Given the description of an element on the screen output the (x, y) to click on. 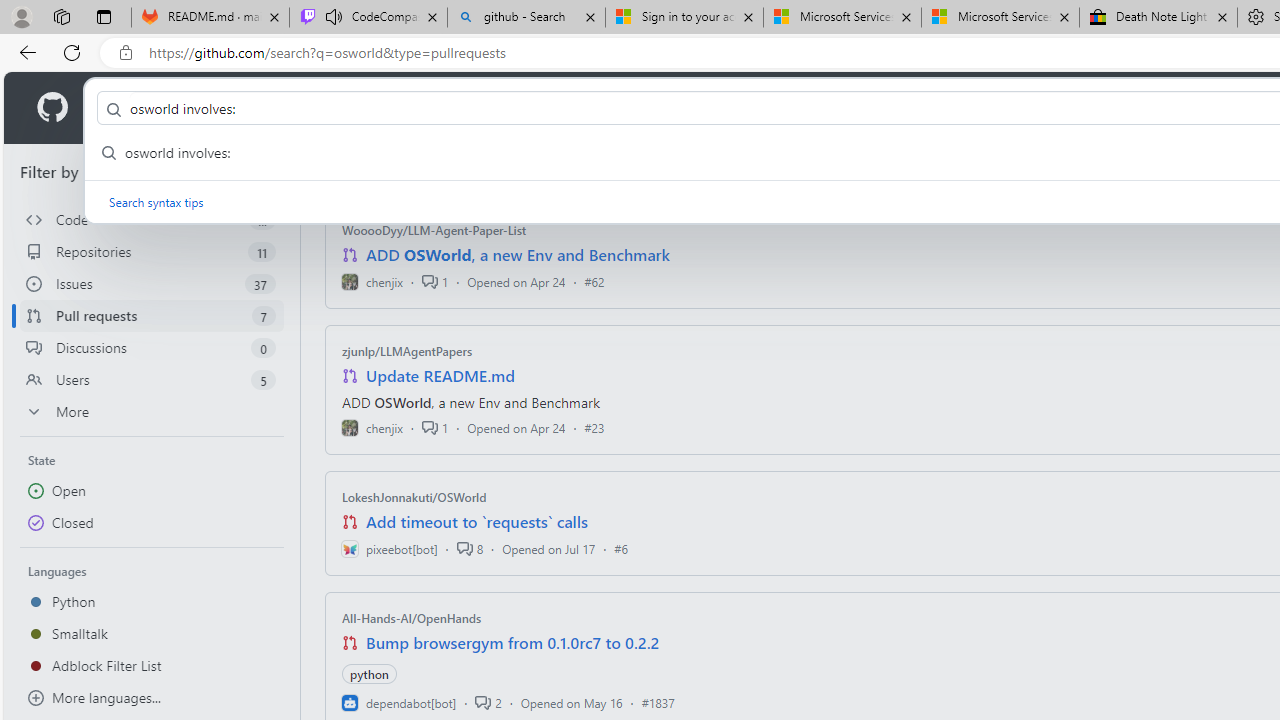
More (152, 411)
Pricing (649, 107)
